Given the description of an element on the screen output the (x, y) to click on. 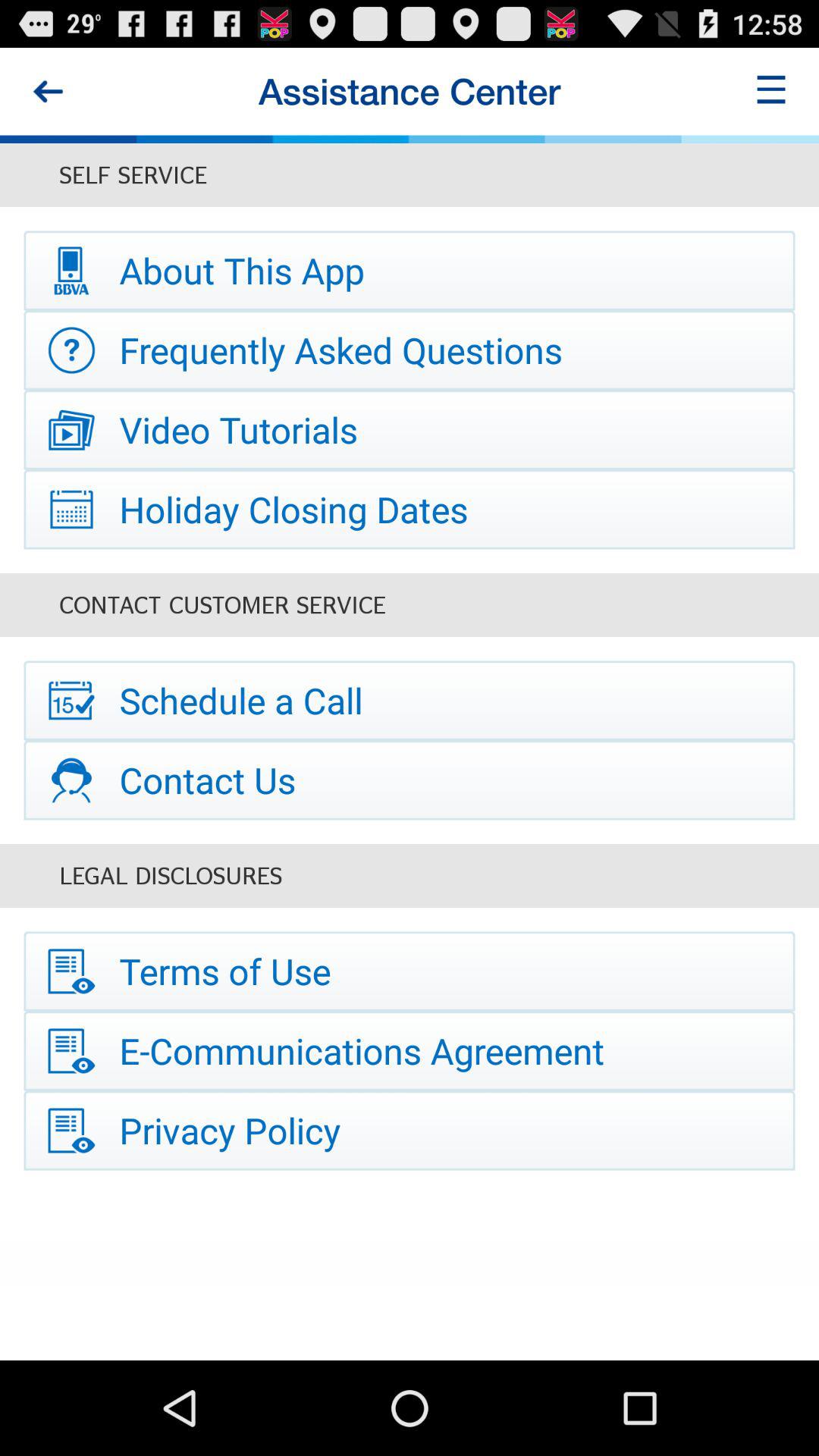
this button is used to find a some other hidden options (771, 91)
